Given the description of an element on the screen output the (x, y) to click on. 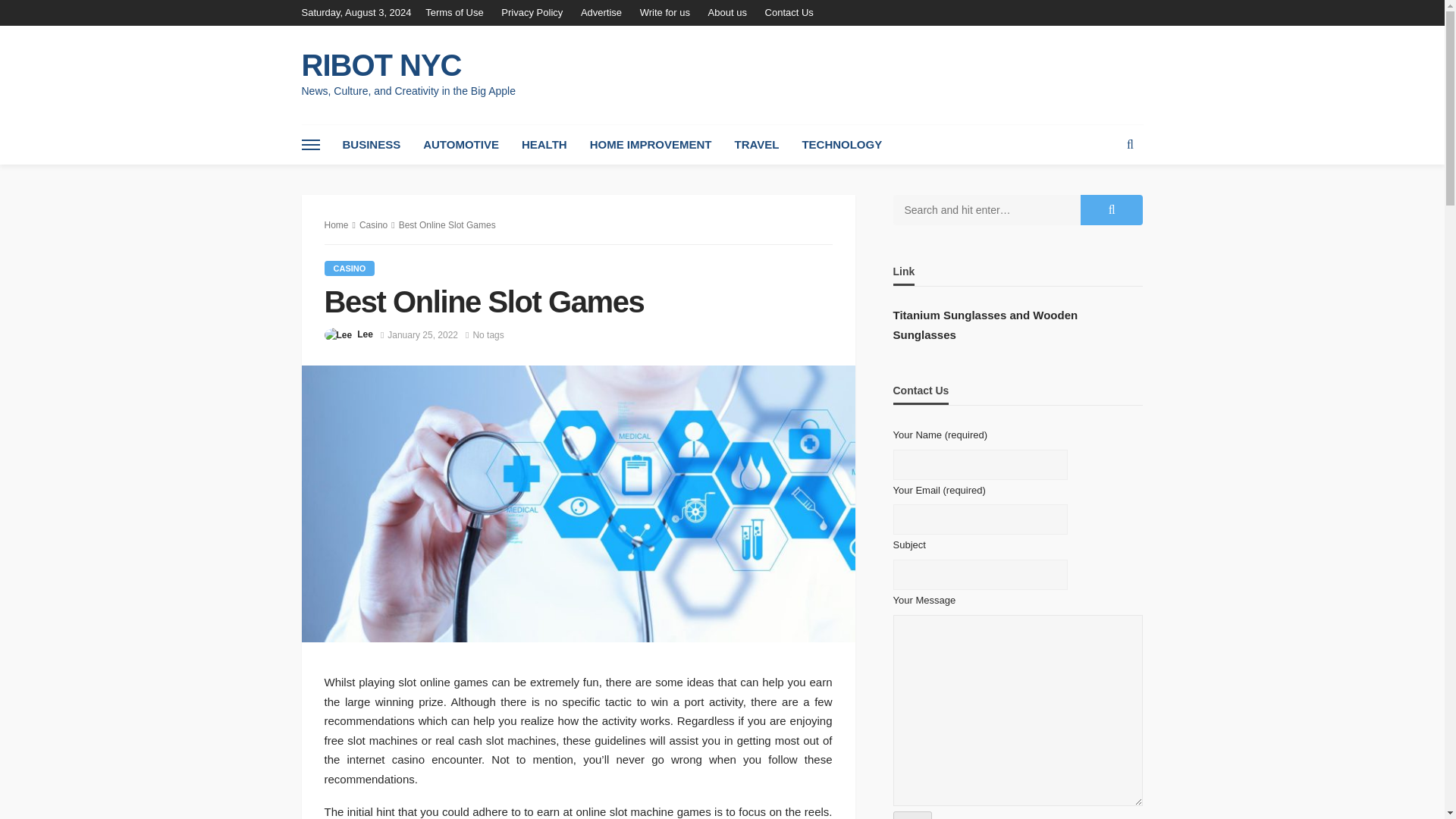
AUTOMOTIVE (461, 144)
Casino (373, 225)
Send (912, 815)
HEALTH (544, 144)
Casino (349, 268)
Search (1130, 144)
RIBOT NYC (408, 64)
off canvas button (310, 144)
Privacy Policy (531, 12)
TECHNOLOGY (841, 144)
BUSINESS (371, 144)
Terms of Use (458, 12)
Home (336, 225)
About us (727, 12)
Lee (364, 334)
